Given the description of an element on the screen output the (x, y) to click on. 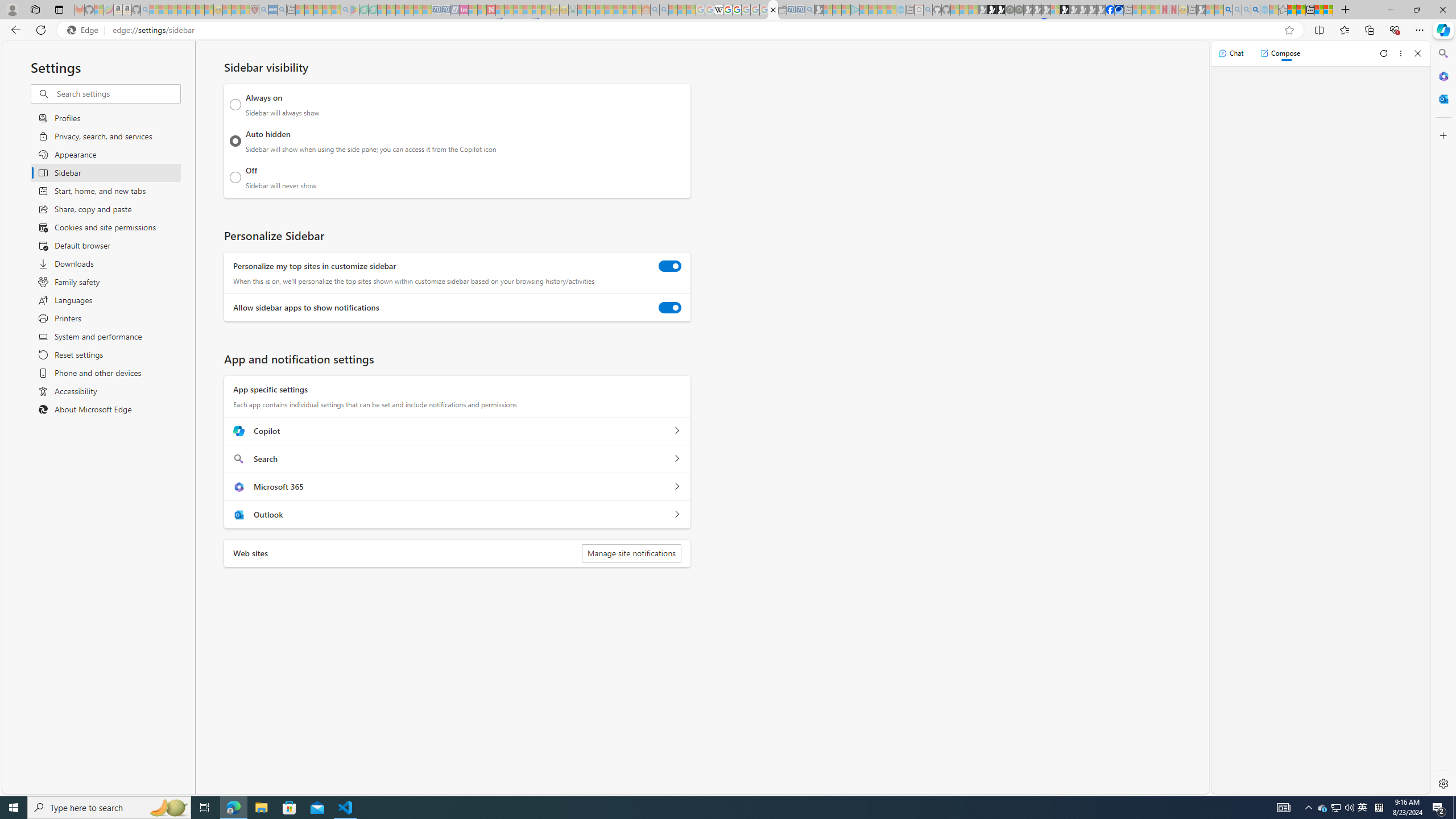
Search settings (117, 93)
Favorites - Sleeping (1283, 9)
Jobs - lastminute.com Investor Portal - Sleeping (463, 9)
Cheap Hotels - Save70.com - Sleeping (445, 9)
google - Search - Sleeping (345, 9)
github - Search - Sleeping (927, 9)
